Given the description of an element on the screen output the (x, y) to click on. 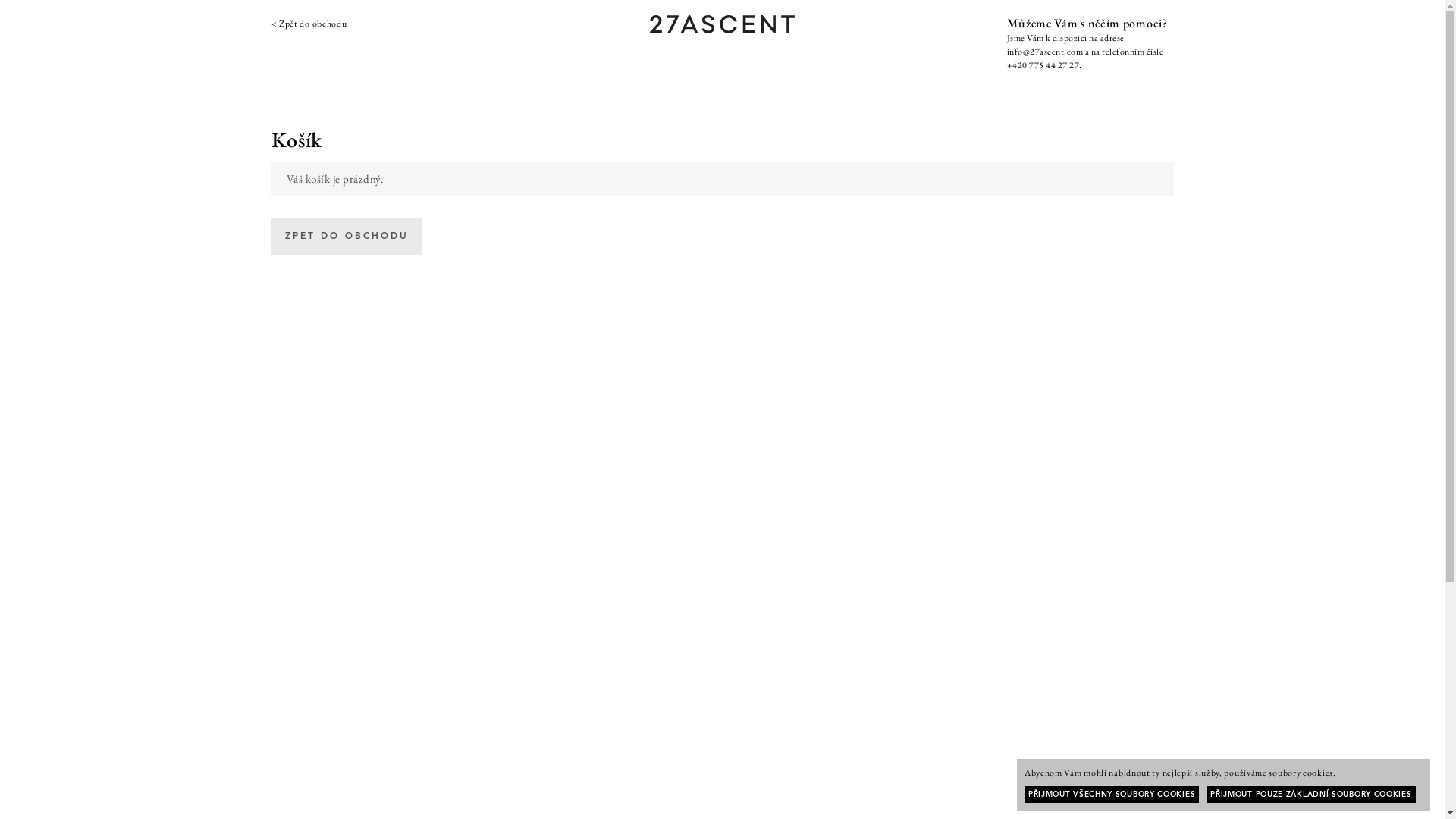
info@27ascent.com Element type: text (1045, 51)
